Given the description of an element on the screen output the (x, y) to click on. 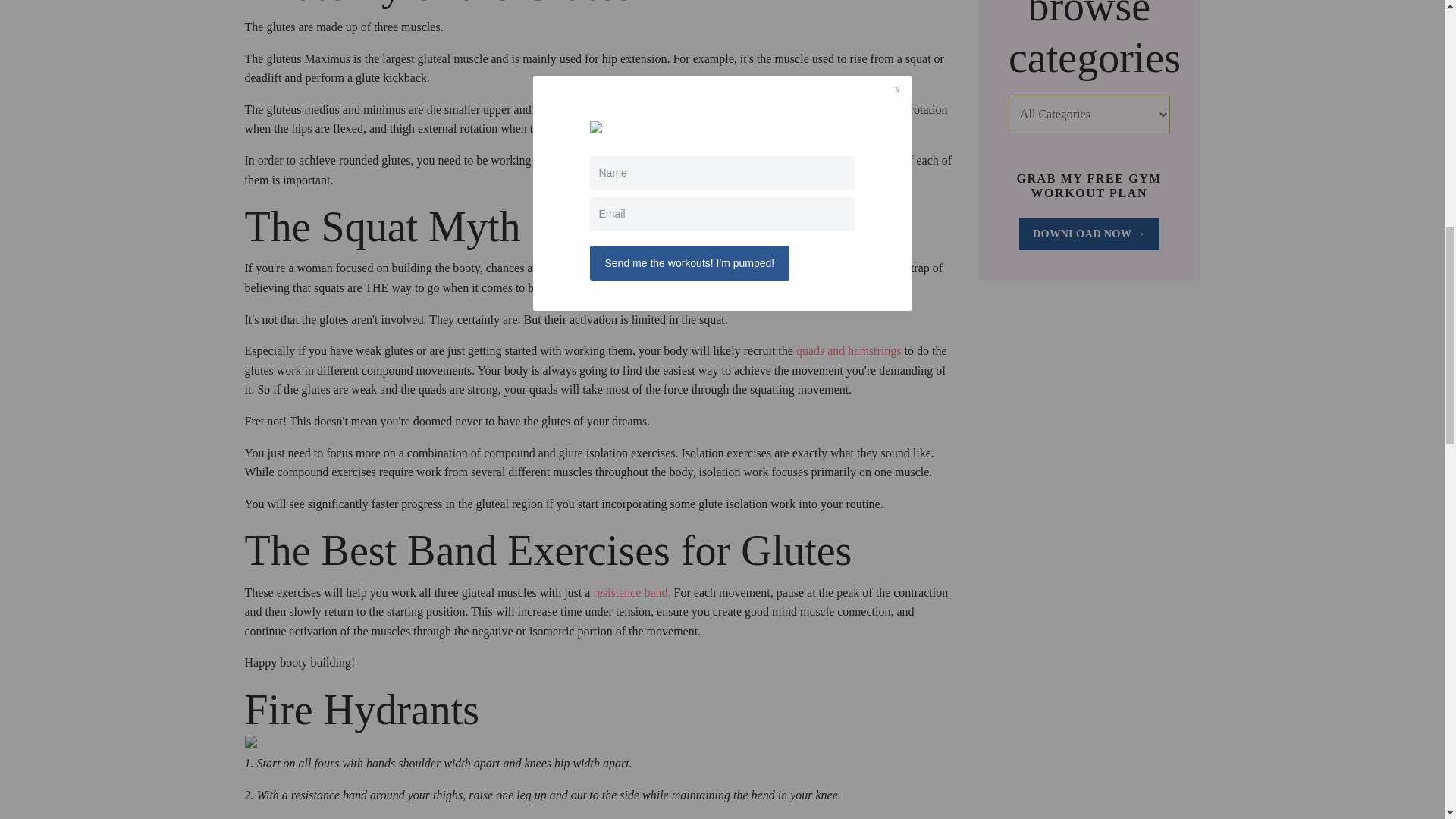
resistance band. (630, 592)
Glutes Workout at Home with Weights and Resistance Band (630, 592)
Dumbbell Leg Workout (848, 350)
quads and hamstrings (848, 350)
